Given the description of an element on the screen output the (x, y) to click on. 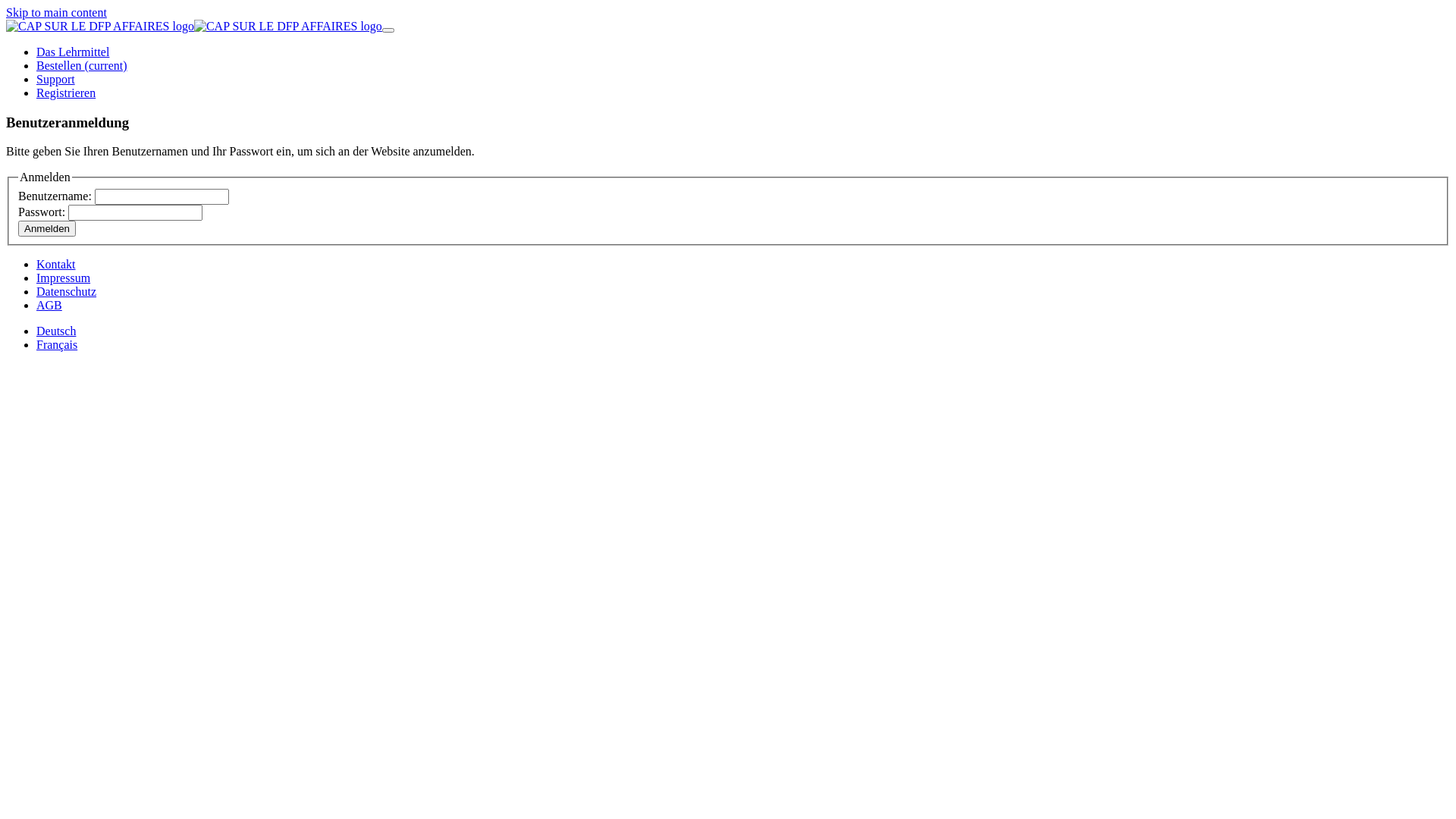
Deutsch Element type: text (55, 330)
Datenschutz Element type: text (66, 291)
Anmelden Element type: text (46, 228)
Support Element type: text (55, 78)
Bestellen (current) Element type: text (81, 65)
Kontakt Element type: text (55, 263)
AGB Element type: text (49, 304)
Skip to main content Element type: text (56, 12)
Das Lehrmittel Element type: text (72, 51)
Registrieren Element type: text (65, 92)
Impressum Element type: text (63, 277)
